Given the description of an element on the screen output the (x, y) to click on. 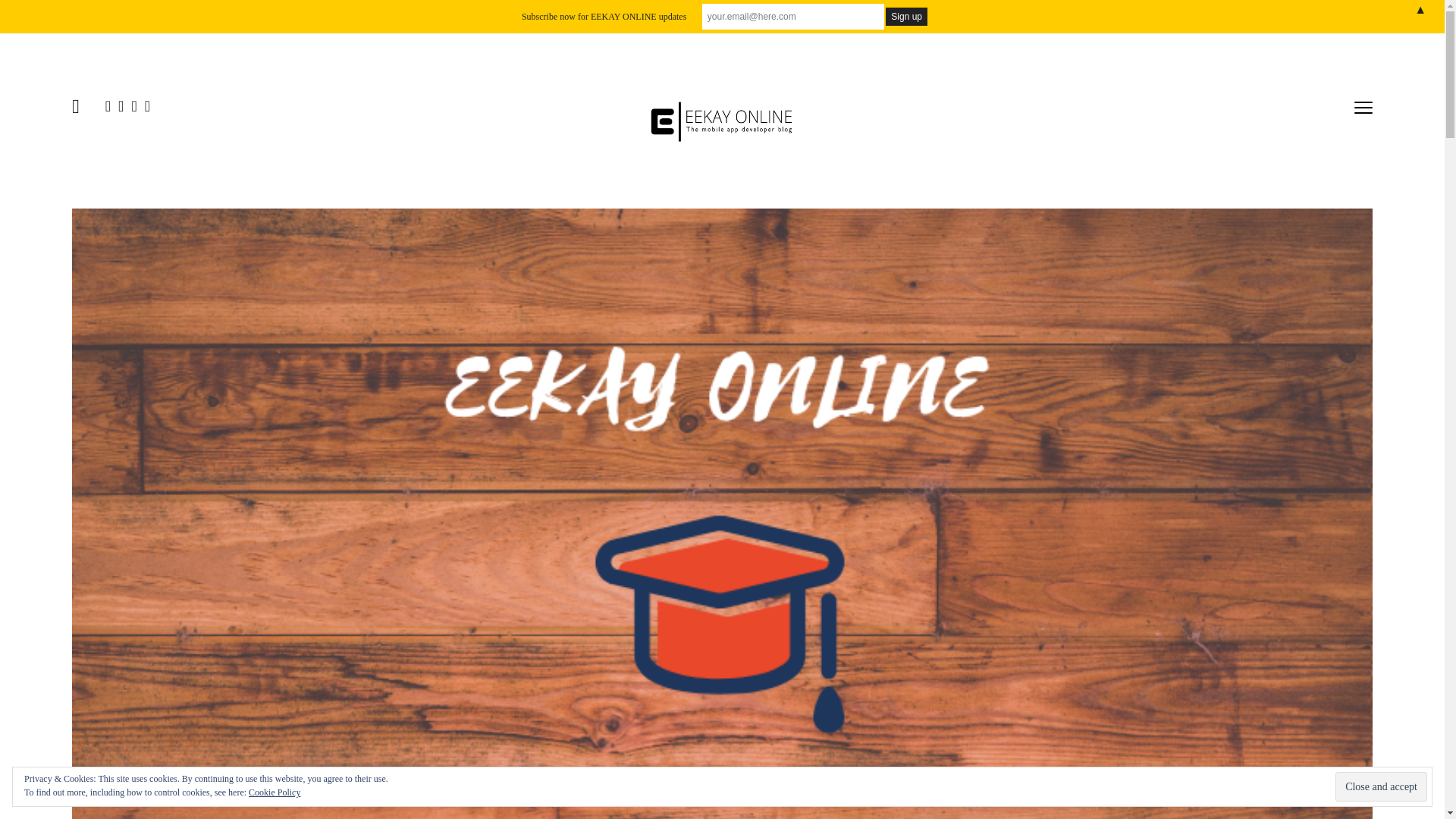
Sign up (906, 16)
Close and accept (1380, 786)
